Given the description of an element on the screen output the (x, y) to click on. 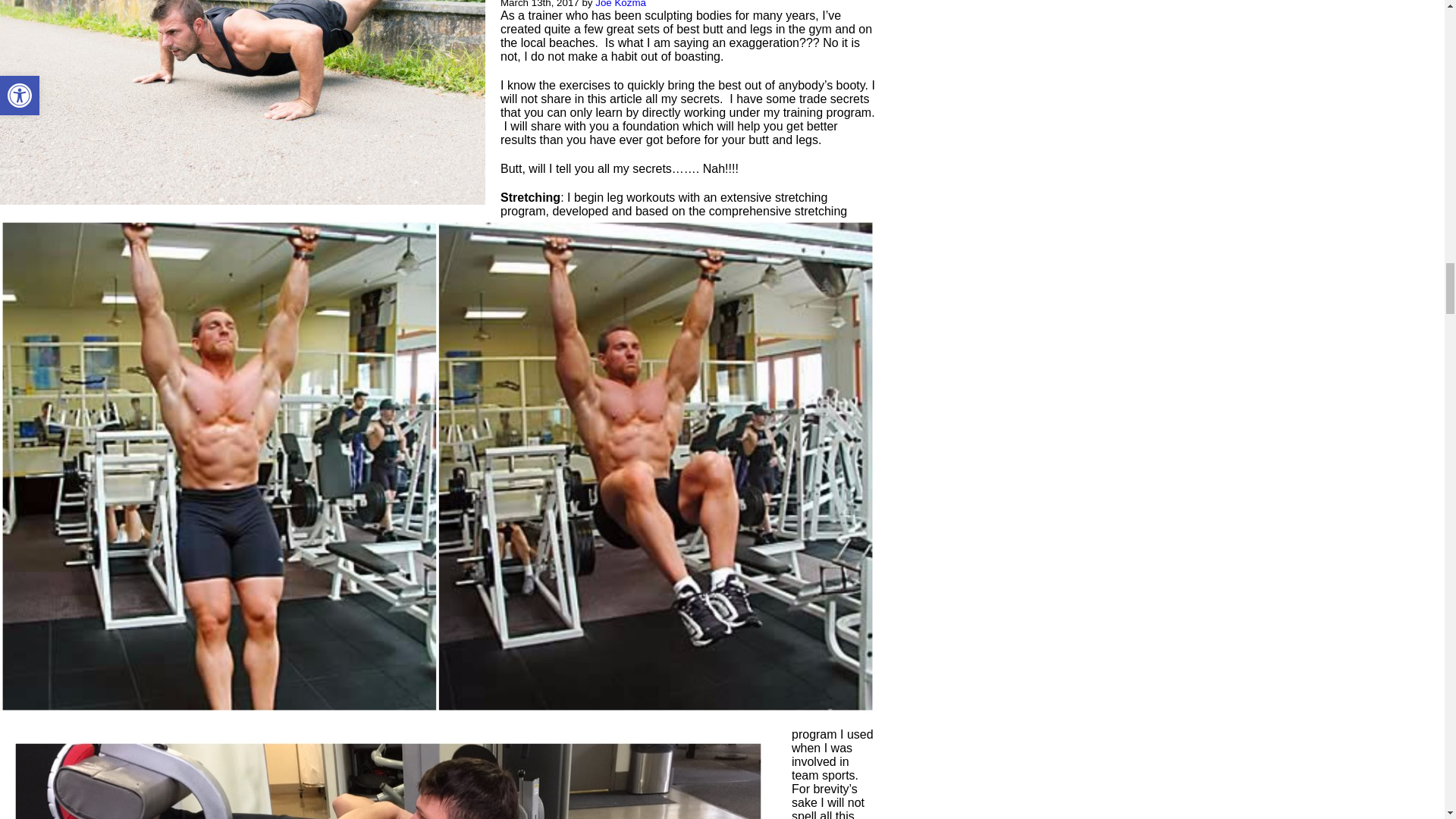
Joe Kozma (620, 4)
Posts by Joe Kozma (620, 4)
